Given the description of an element on the screen output the (x, y) to click on. 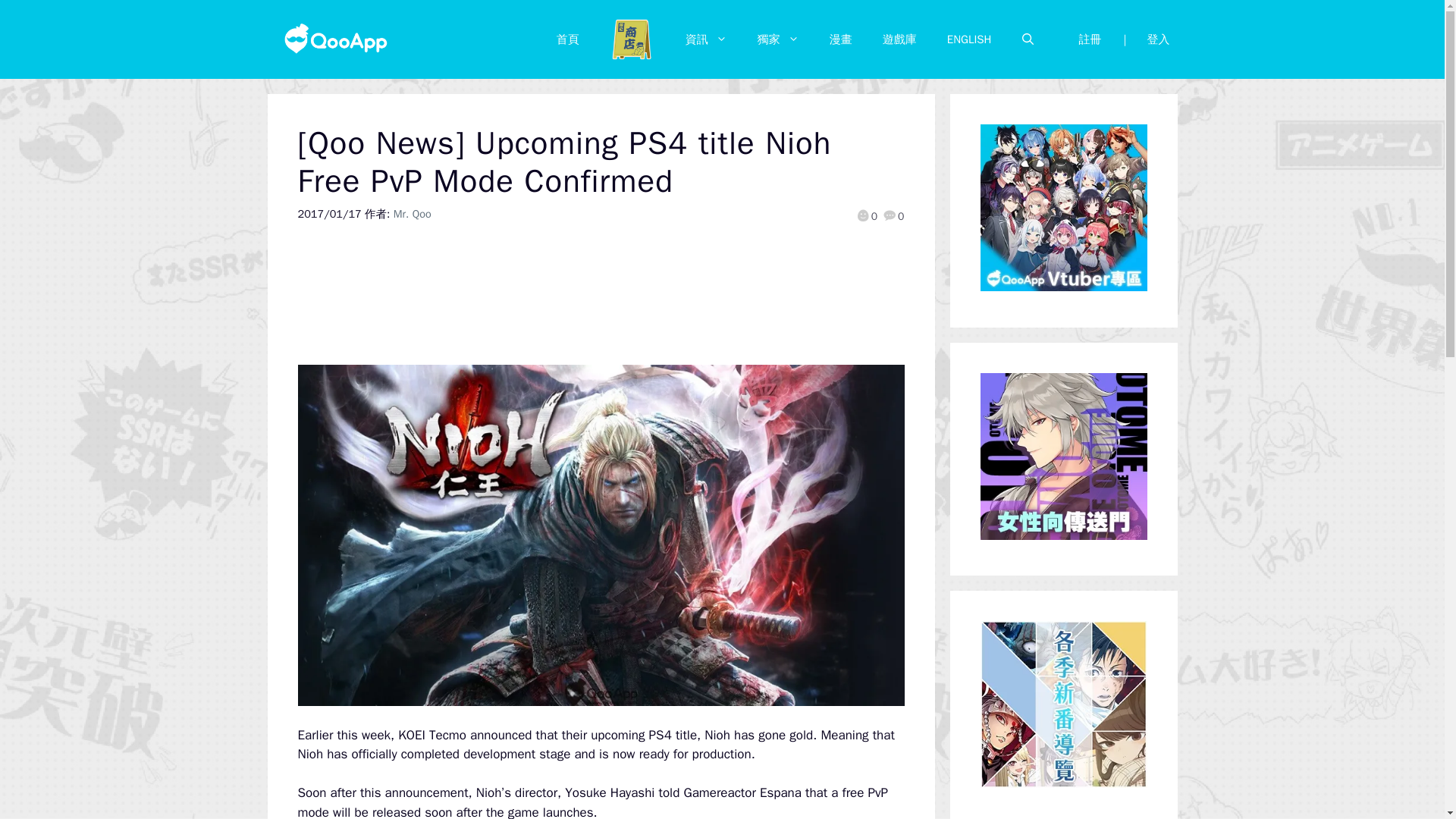
ENGLISH (969, 39)
0 (866, 216)
Mr. Qoo (411, 213)
birthday2024 (631, 39)
0 (893, 216)
